Given the description of an element on the screen output the (x, y) to click on. 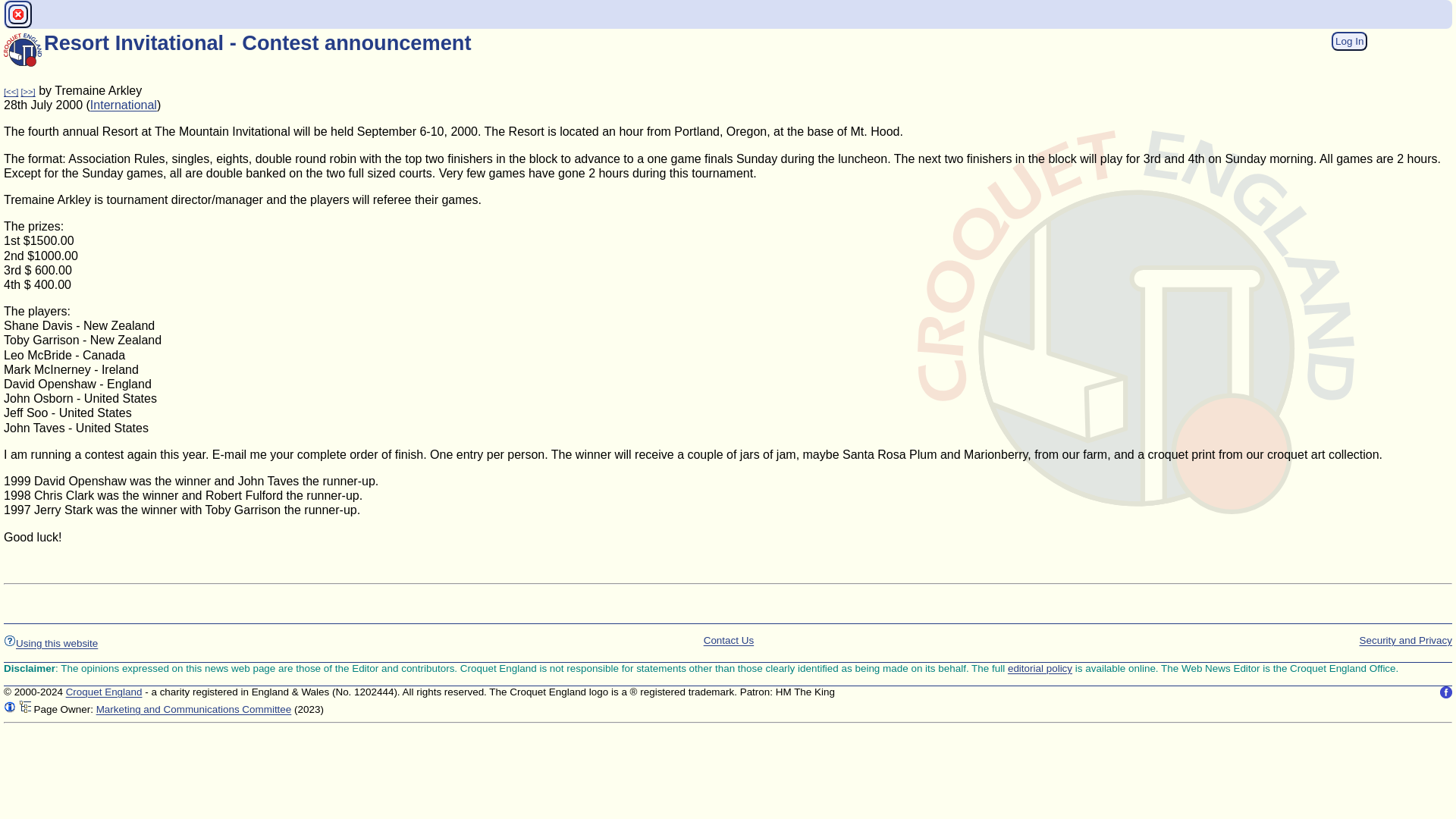
Marketing and Communications Committee (194, 708)
View Croquet England contacts (728, 639)
Close Window (17, 14)
Croquet England Logo (23, 49)
contact us (103, 691)
Close Window (17, 14)
Log In (1349, 40)
Show page details and references (10, 706)
Next news item (27, 91)
Contact Us (728, 639)
Log in for more options (1349, 40)
editorial policy (1039, 668)
Help (10, 639)
Previous news item (10, 91)
Using this website (50, 642)
